Given the description of an element on the screen output the (x, y) to click on. 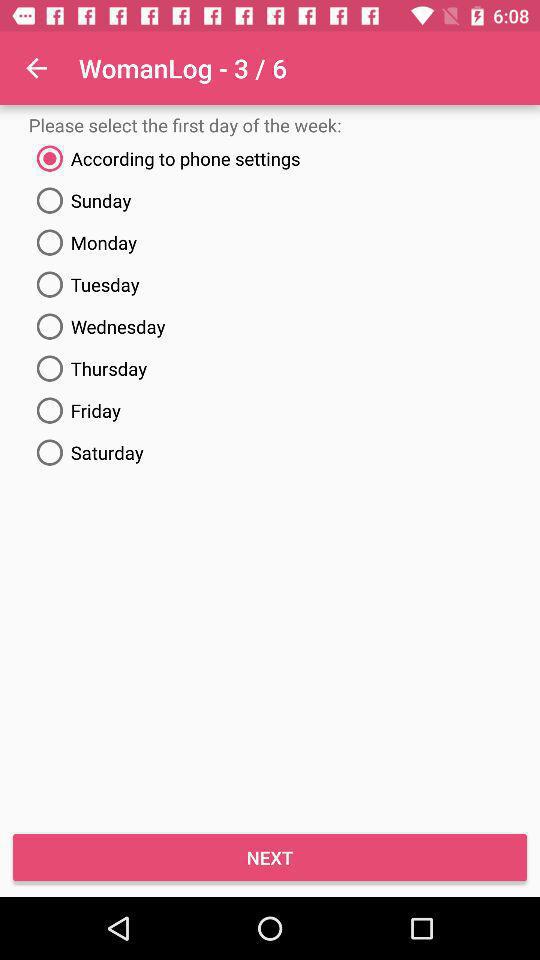
choose the item below the thursday icon (269, 410)
